Given the description of an element on the screen output the (x, y) to click on. 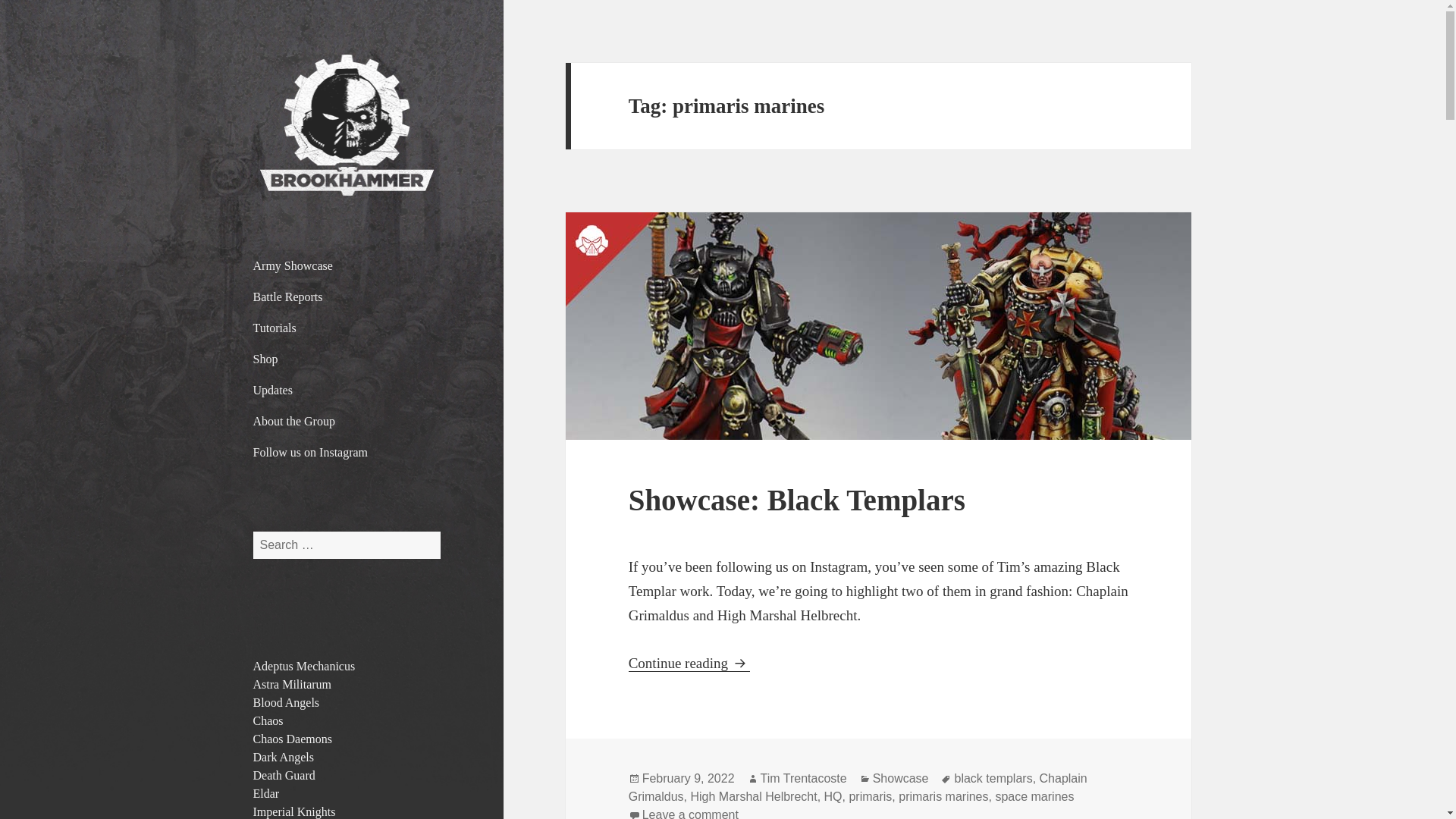
Dark Angels (283, 757)
Blood Angels (286, 703)
Showcase (900, 778)
primaris (869, 796)
Battle Reports (347, 296)
Search (688, 663)
Updates (688, 778)
Astra Militarum (347, 390)
Chaos (292, 684)
Tutorials (268, 721)
Army Showcase (347, 327)
Eldar (347, 265)
High Marshal Helbrecht (266, 793)
